Given the description of an element on the screen output the (x, y) to click on. 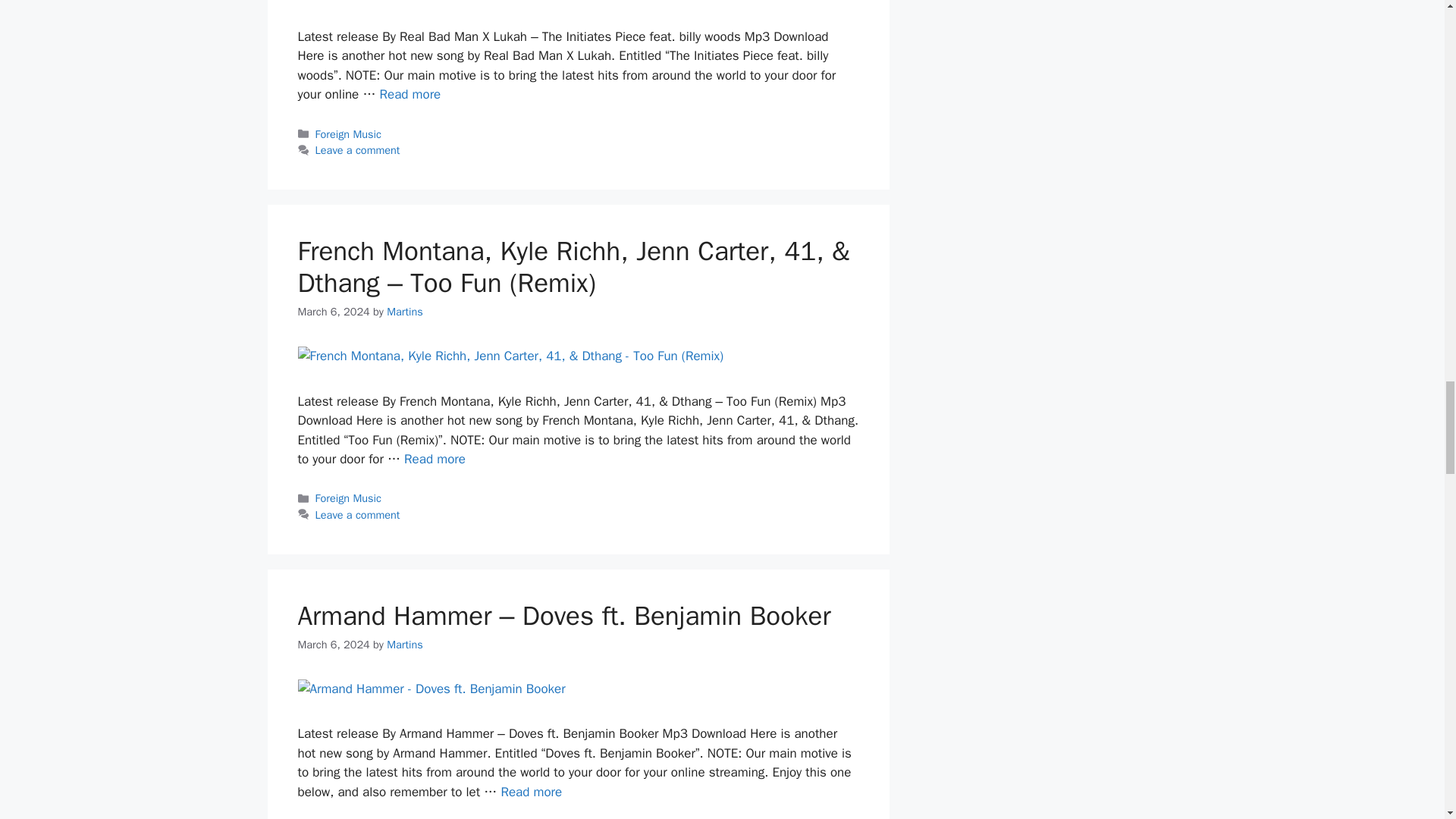
View all posts by Martins (405, 311)
Foreign Music (348, 133)
Leave a comment (357, 150)
View all posts by Martins (405, 644)
Read more (409, 94)
